Given the description of an element on the screen output the (x, y) to click on. 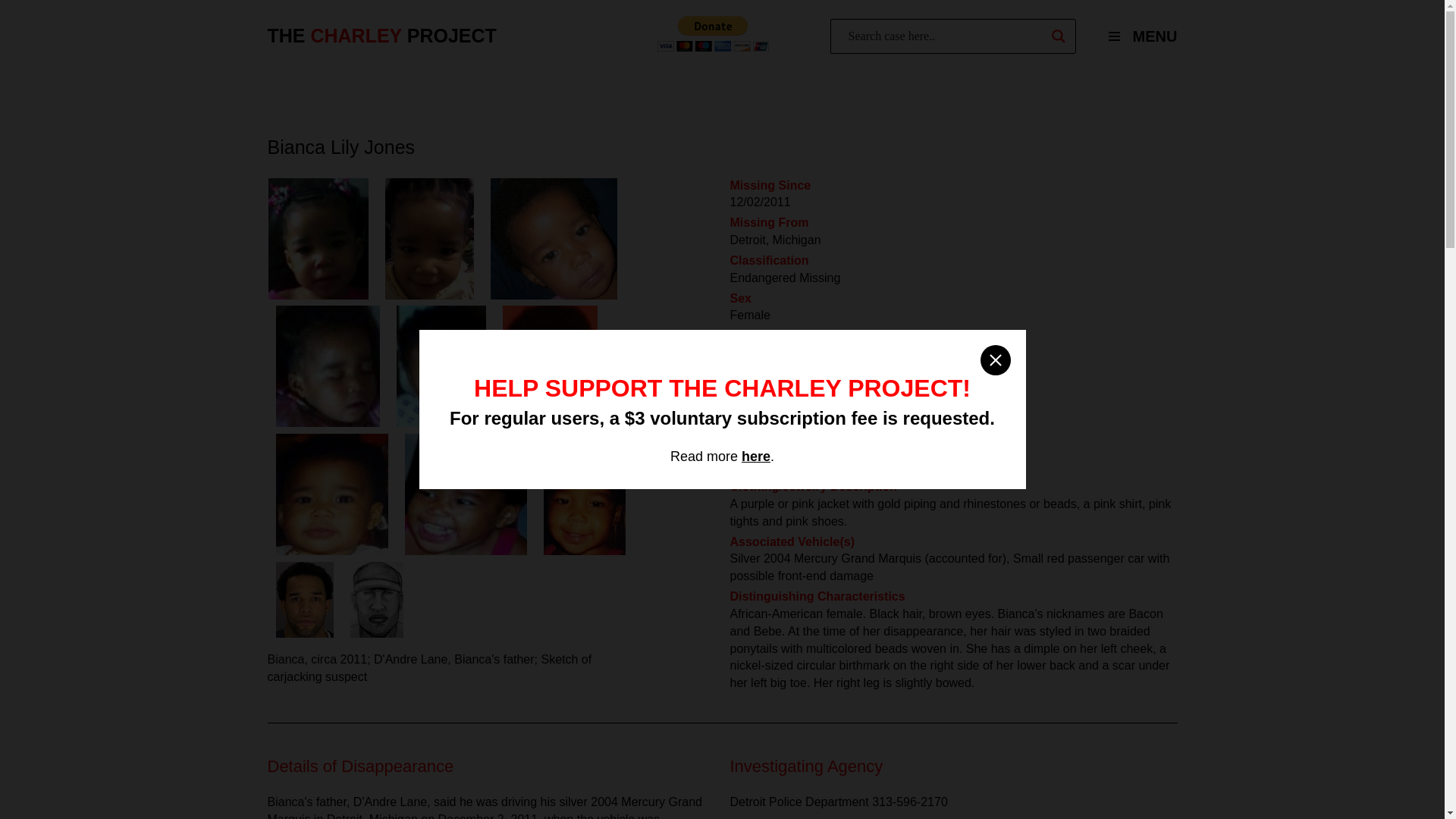
THE CHARLEY PROJECT (381, 35)
MENU (1135, 36)
